Given the description of an element on the screen output the (x, y) to click on. 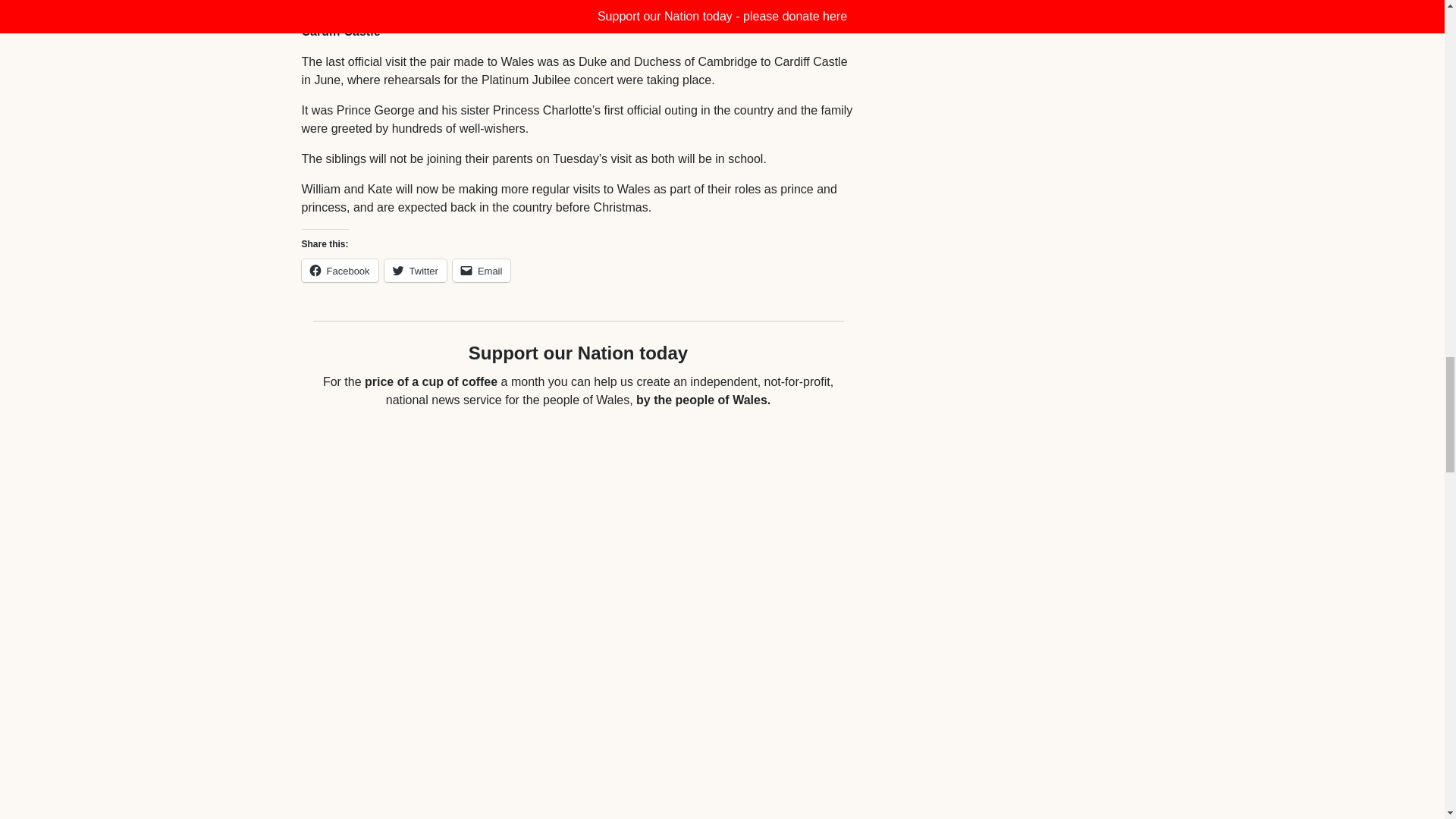
Click to share on Facebook (339, 270)
Click to email a link to a friend (481, 270)
Twitter (415, 270)
Facebook (339, 270)
Click to share on Twitter (415, 270)
Email (481, 270)
